Given the description of an element on the screen output the (x, y) to click on. 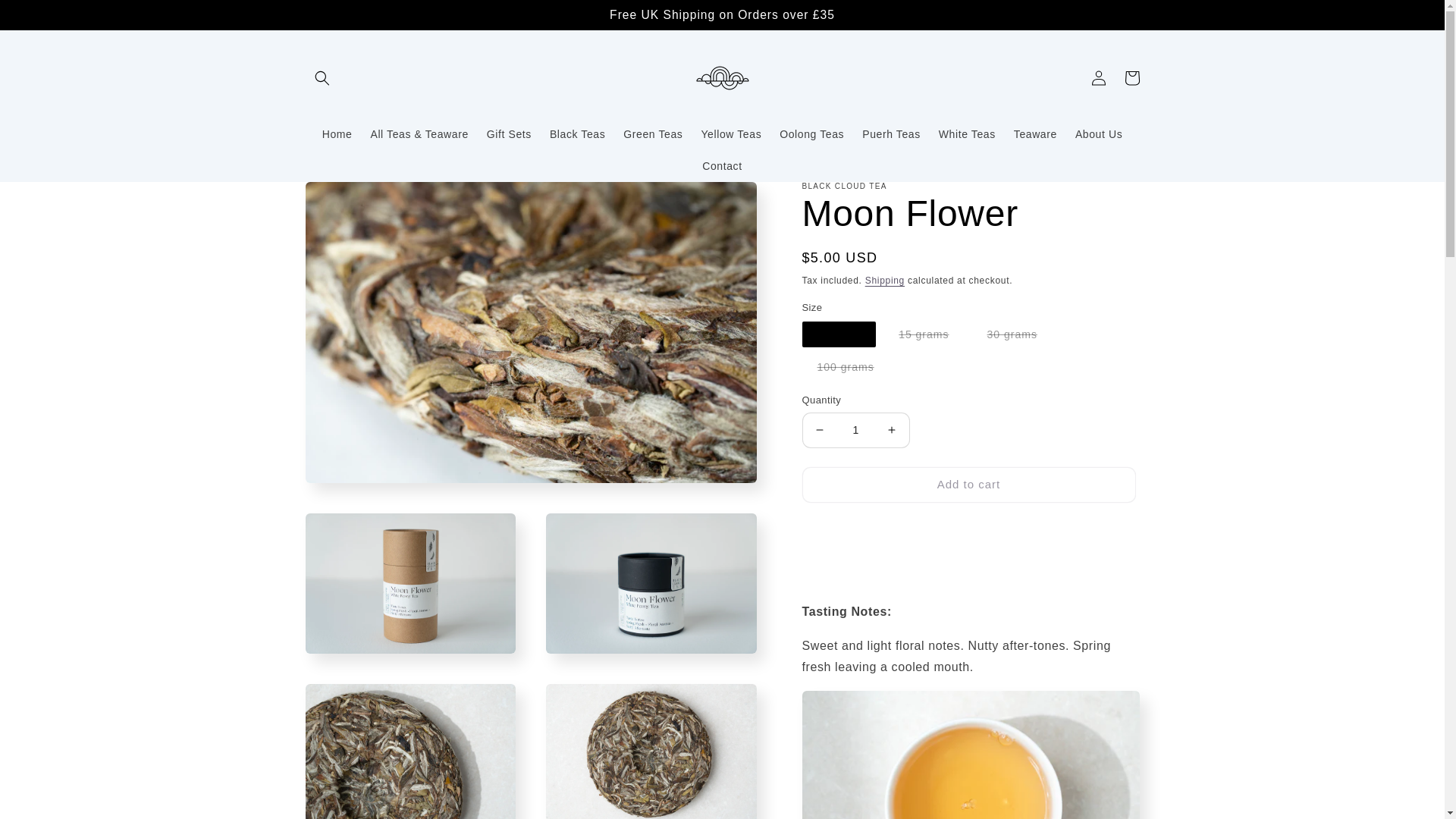
Puerh Teas (891, 133)
Green Teas (652, 133)
White Teas (967, 133)
Log in (1098, 78)
Home (337, 133)
Oolong Teas (811, 133)
Skip to content (45, 17)
Contact (722, 165)
About Us (1098, 133)
Teaware (1034, 133)
Cart (1131, 78)
1 (856, 429)
